Given the description of an element on the screen output the (x, y) to click on. 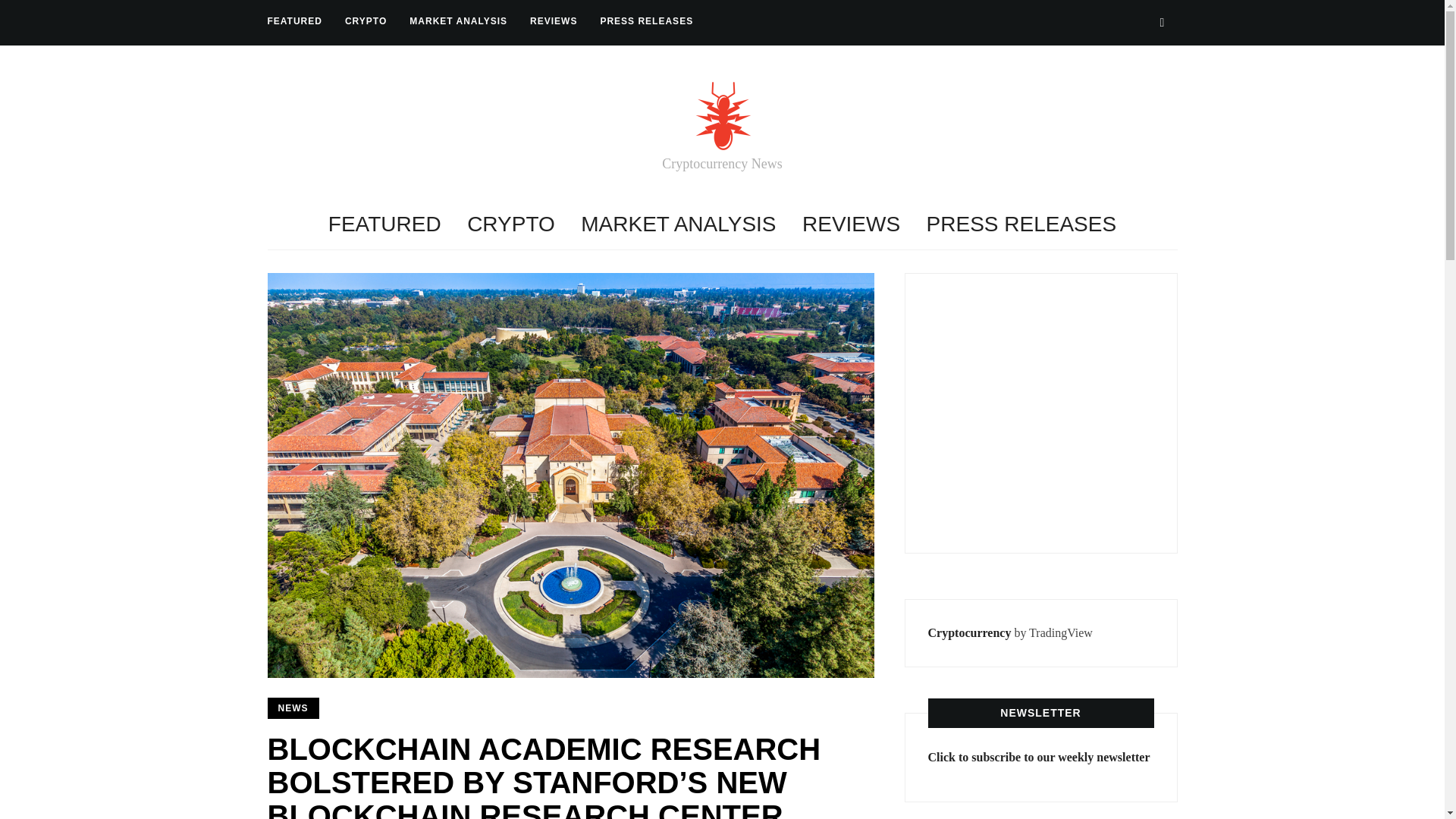
FEATURED (385, 224)
CRYPTO (510, 224)
REVIEWS (850, 224)
FEATURED (293, 21)
Click to subscribe to our weekly newsletter (1039, 757)
PRESS RELEASES (1021, 224)
Search (1161, 22)
MARKET ANALYSIS (457, 21)
Coin360.com: Cryptocurrency Market State (1042, 410)
MARKET ANALYSIS (678, 224)
Cryptocurrency (969, 632)
NEWS (292, 708)
PRESS RELEASES (646, 21)
CRYPTO (366, 21)
REVIEWS (552, 21)
